Given the description of an element on the screen output the (x, y) to click on. 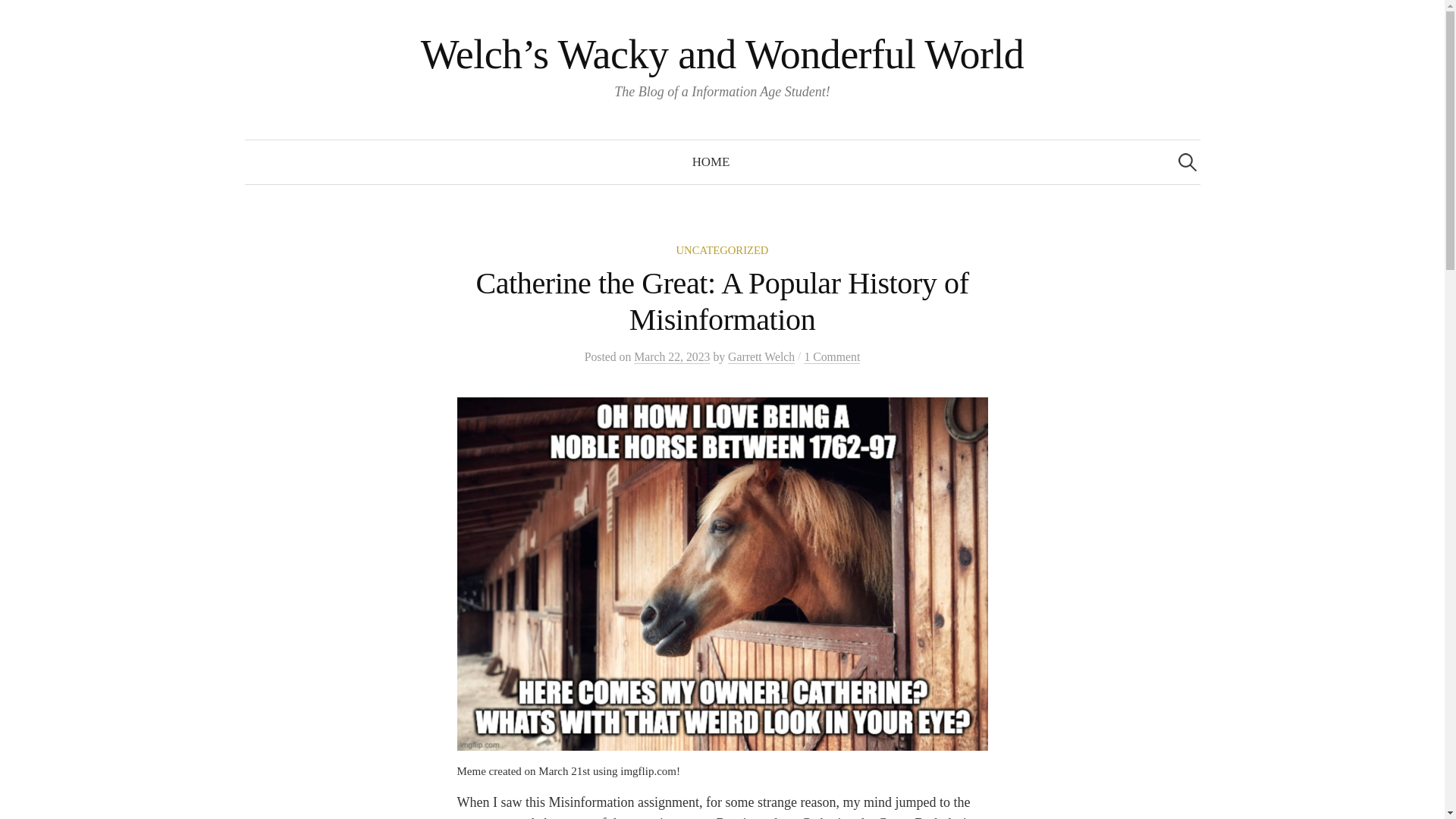
UNCATEGORIZED (722, 250)
1 Comment (831, 356)
HOME (711, 162)
March 22, 2023 (671, 356)
View all posts by Garrett Welch (761, 356)
Garrett Welch (761, 356)
Search (18, 18)
